Given the description of an element on the screen output the (x, y) to click on. 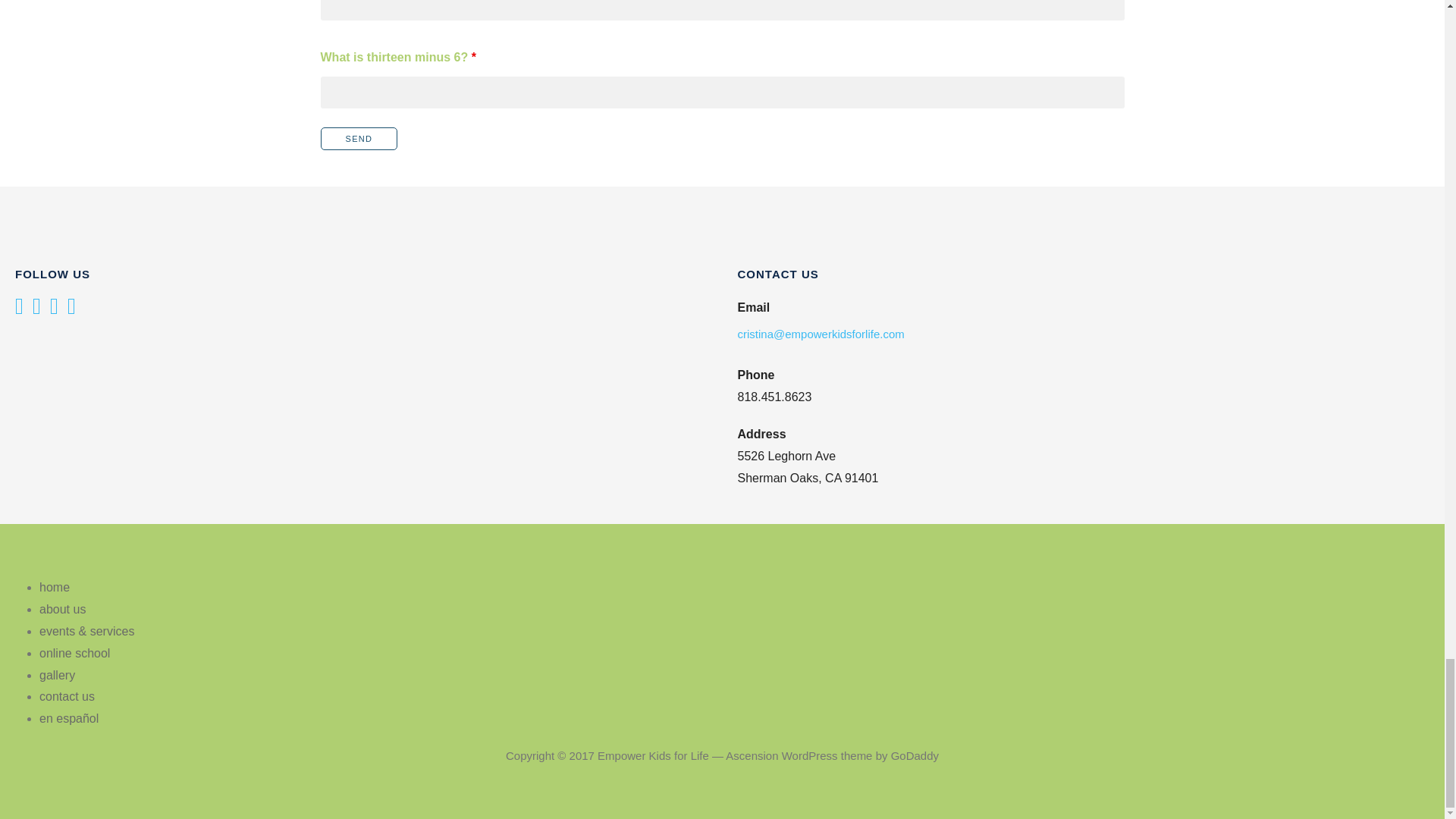
Send (358, 138)
about us (62, 608)
Send (358, 138)
gallery (57, 675)
online school (74, 653)
home (54, 586)
